Given the description of an element on the screen output the (x, y) to click on. 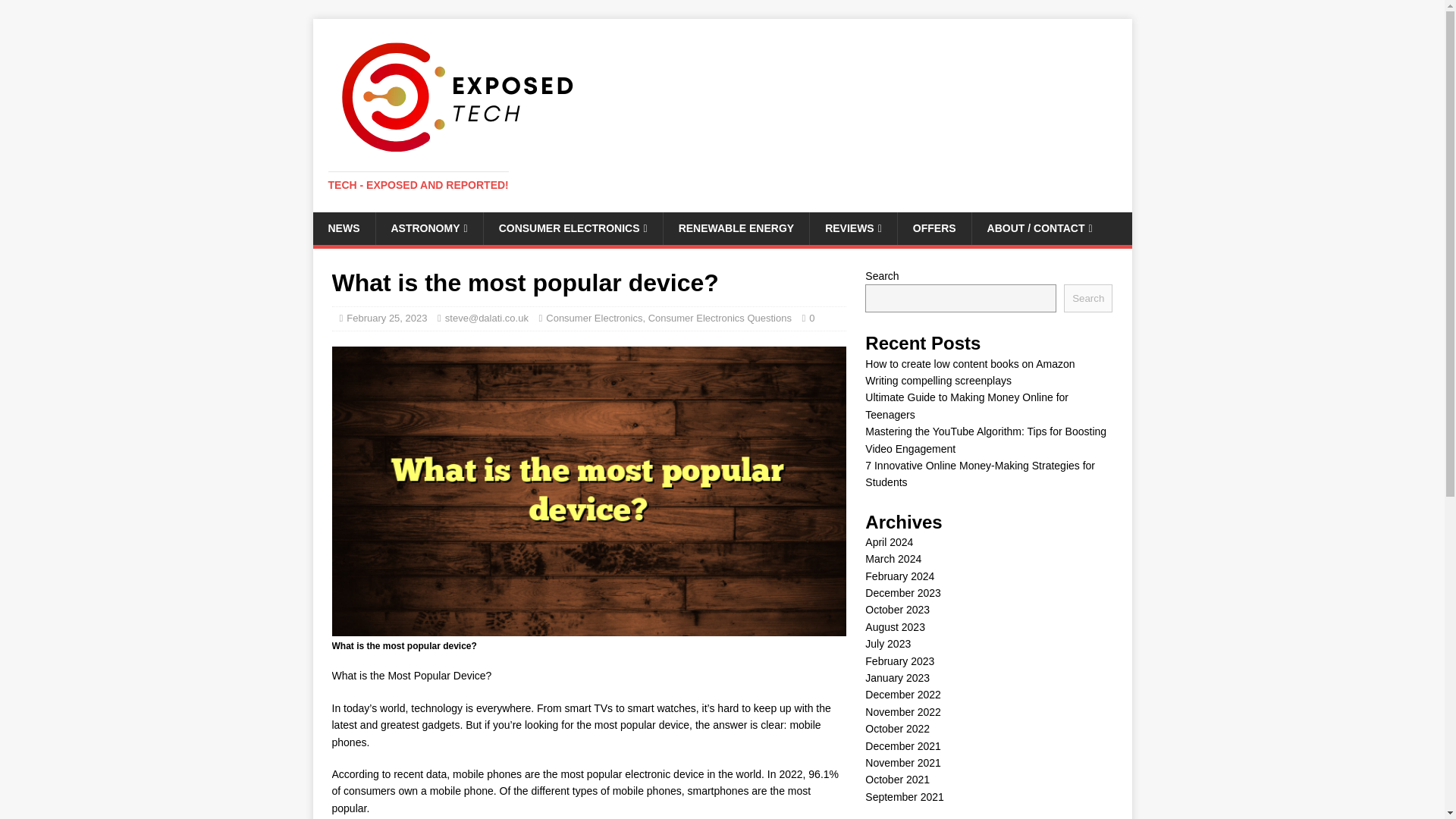
RENEWABLE ENERGY (735, 228)
Writing compelling screenplays (937, 380)
OFFERS (933, 228)
ASTRONOMY (427, 228)
REVIEWS (852, 228)
Consumer Electronics (594, 317)
NEWS (343, 228)
Search (1088, 298)
TECH - EXPOSED AND REPORTED! (417, 184)
